Given the description of an element on the screen output the (x, y) to click on. 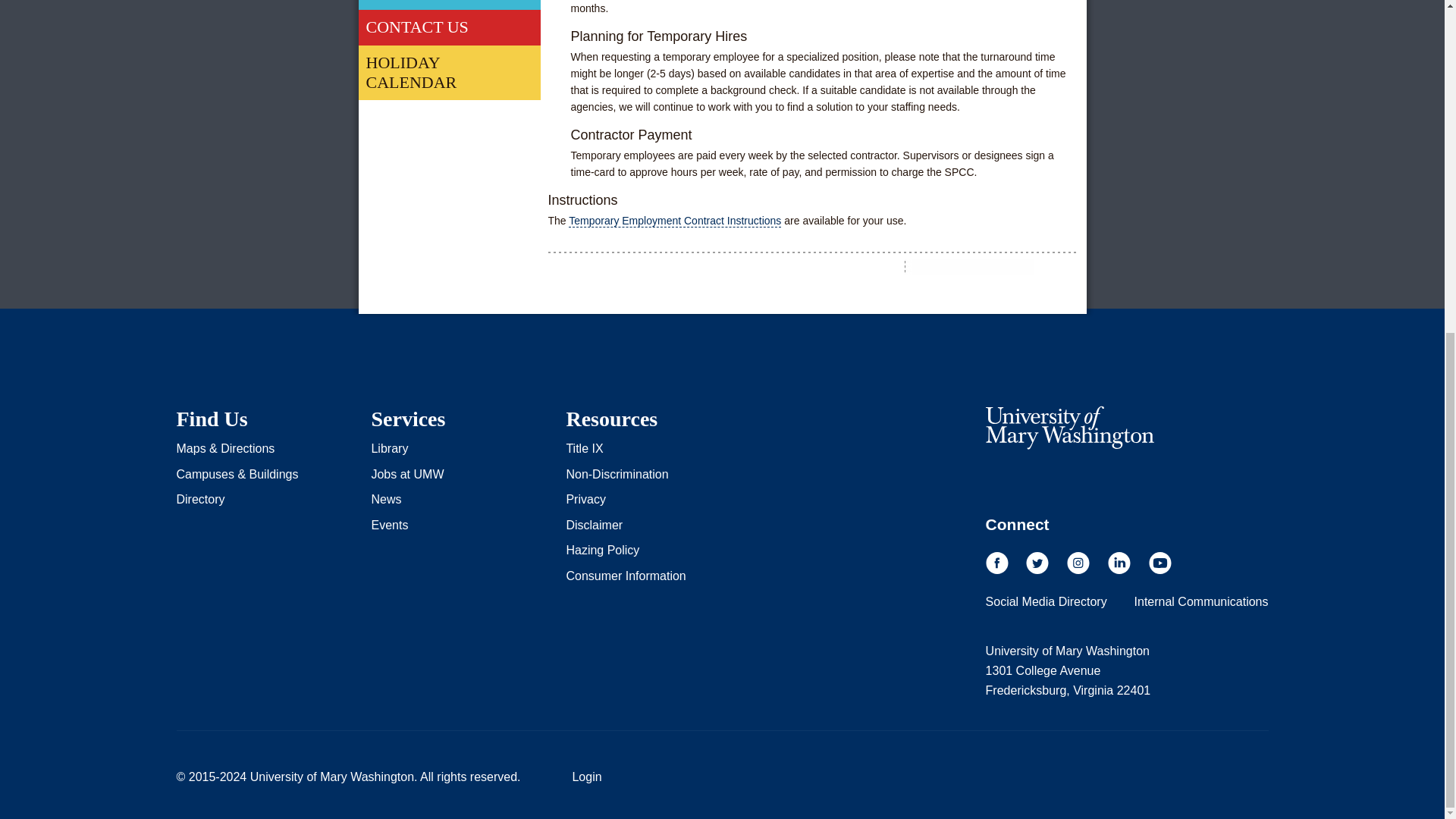
University of Mary Washington (1069, 427)
Login to the administration area for Human Resources (586, 776)
